Given the description of an element on the screen output the (x, y) to click on. 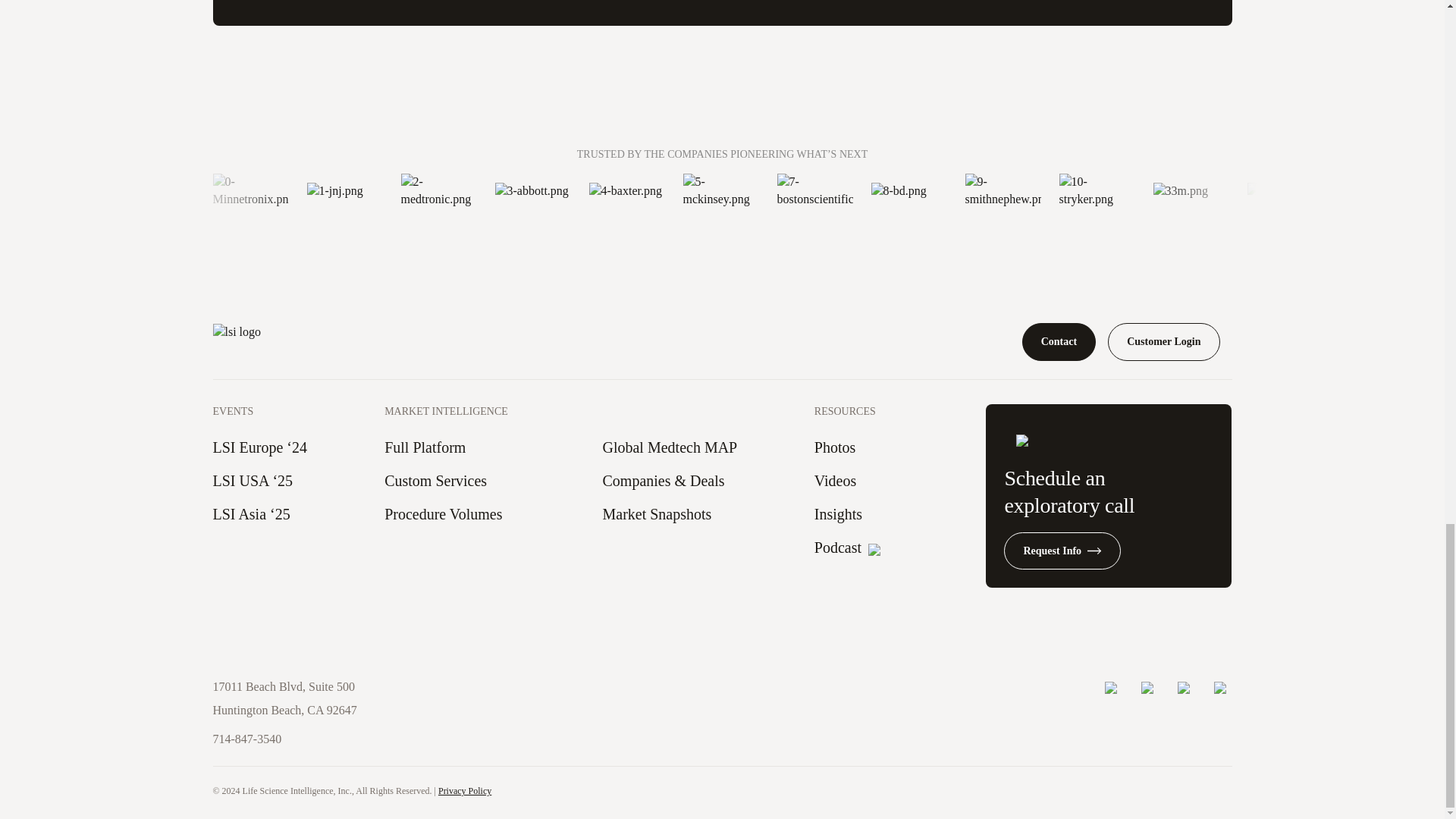
Full Platform (424, 446)
Customer Login (1164, 341)
Contact (1059, 341)
